Given the description of an element on the screen output the (x, y) to click on. 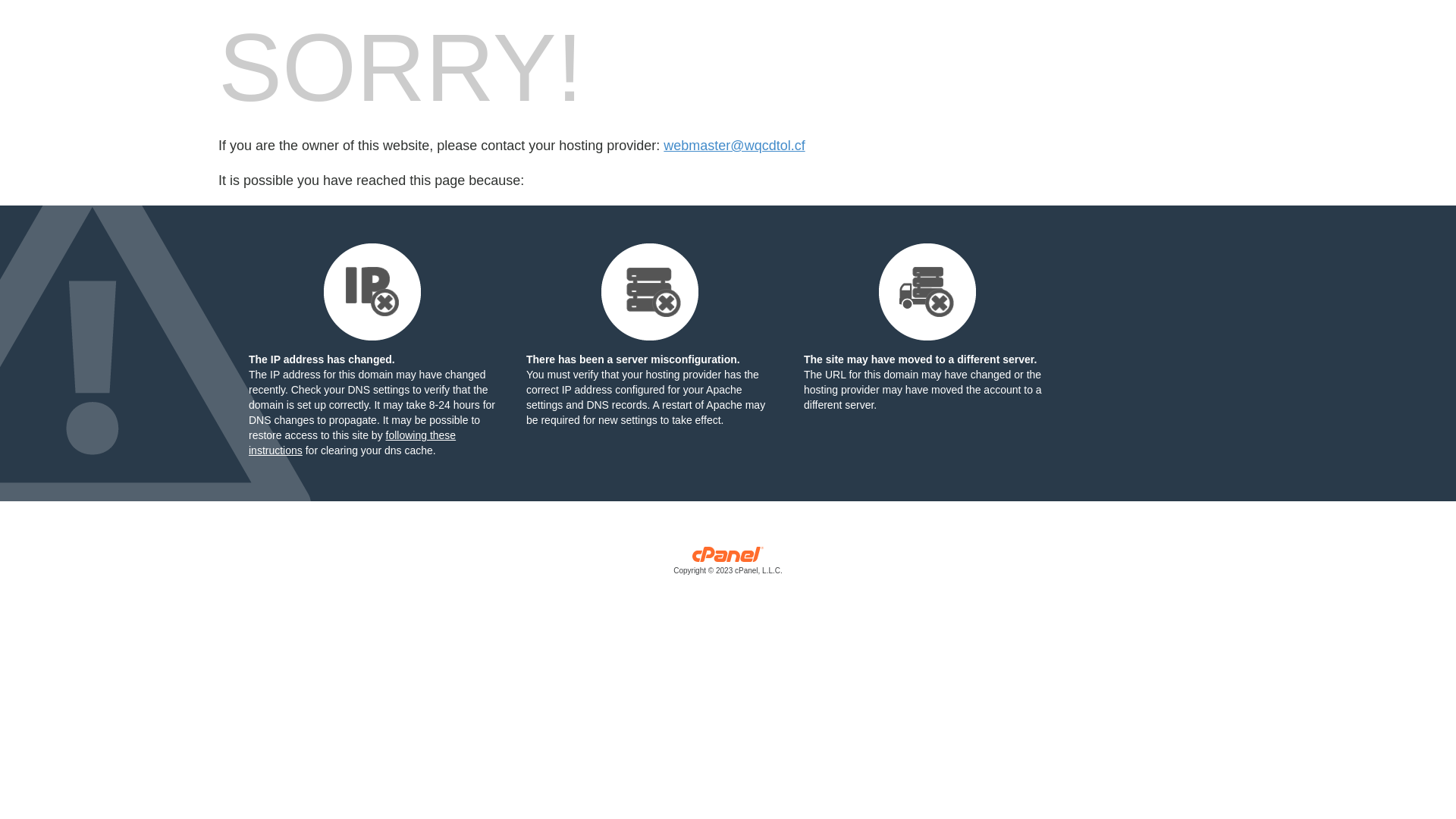
webmaster@wqcdtol.cf Element type: text (733, 145)
following these instructions Element type: text (351, 442)
